Given the description of an element on the screen output the (x, y) to click on. 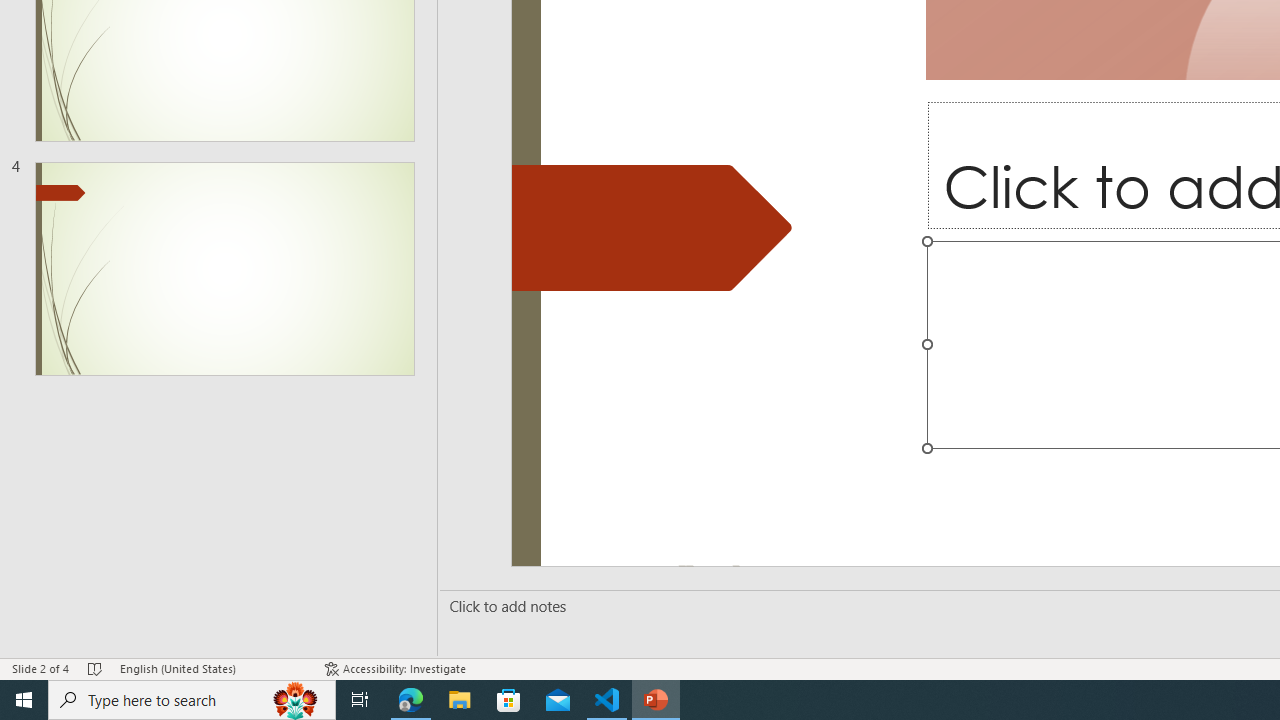
Decorative Locked (652, 227)
